Given the description of an element on the screen output the (x, y) to click on. 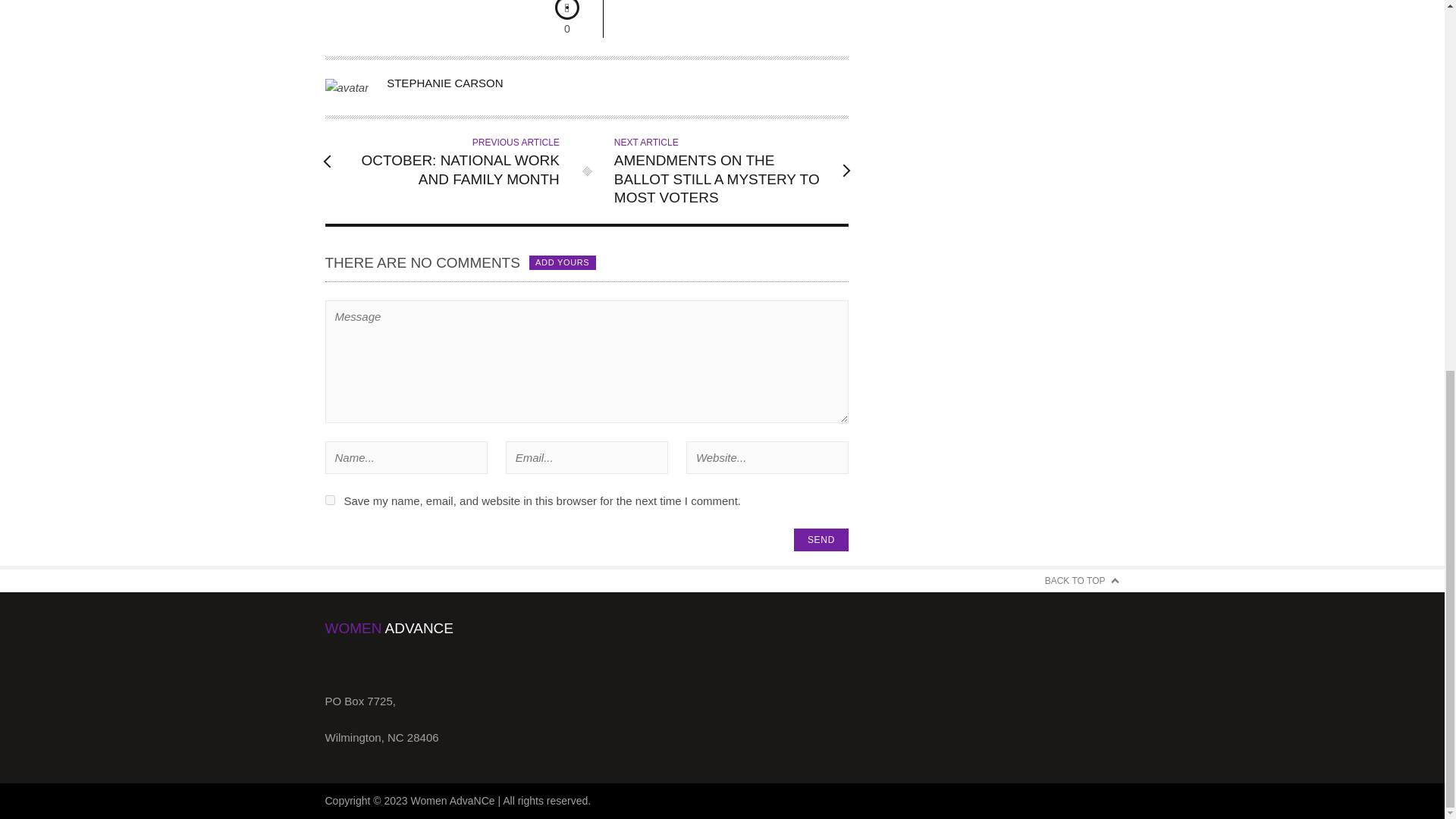
yes (329, 500)
Send (820, 539)
Posts by Stephanie Carson (444, 82)
